Given the description of an element on the screen output the (x, y) to click on. 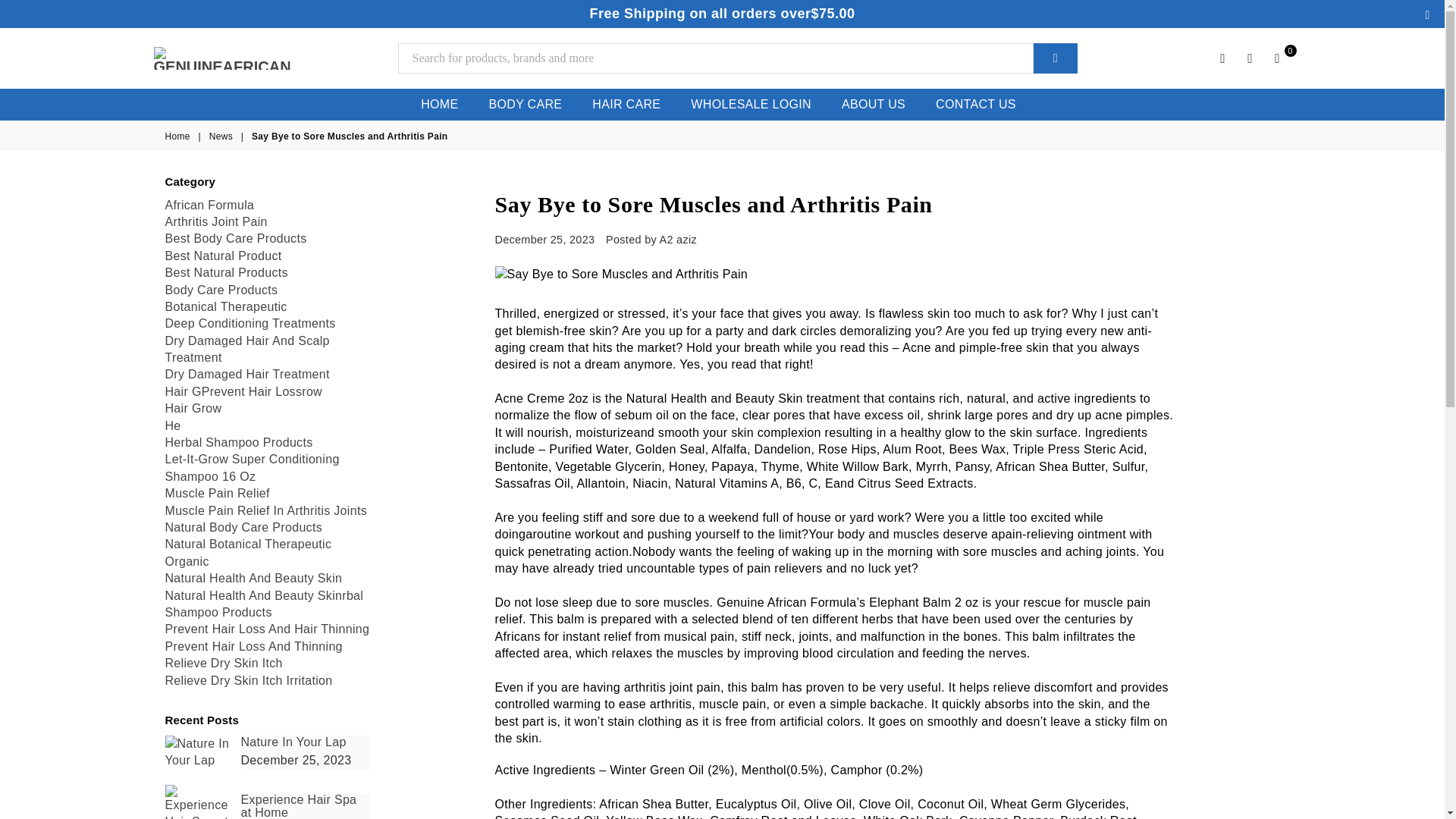
GENUINEAFRICANFORMULA (232, 57)
HAIR CARE (625, 104)
Wishlist (1249, 57)
SUBMIT (1055, 58)
Show articles tagged African Formula (209, 205)
Back to the home page (178, 136)
Show articles tagged Best Natural Product (223, 255)
HOME (438, 104)
ABOUT US (873, 104)
Settings (1222, 57)
WHOLESALE LOGIN (750, 104)
Cart (1276, 57)
Show articles tagged Best Natural Products (226, 272)
Show articles tagged Arthritis Joint Pain (216, 221)
Home (178, 136)
